Given the description of an element on the screen output the (x, y) to click on. 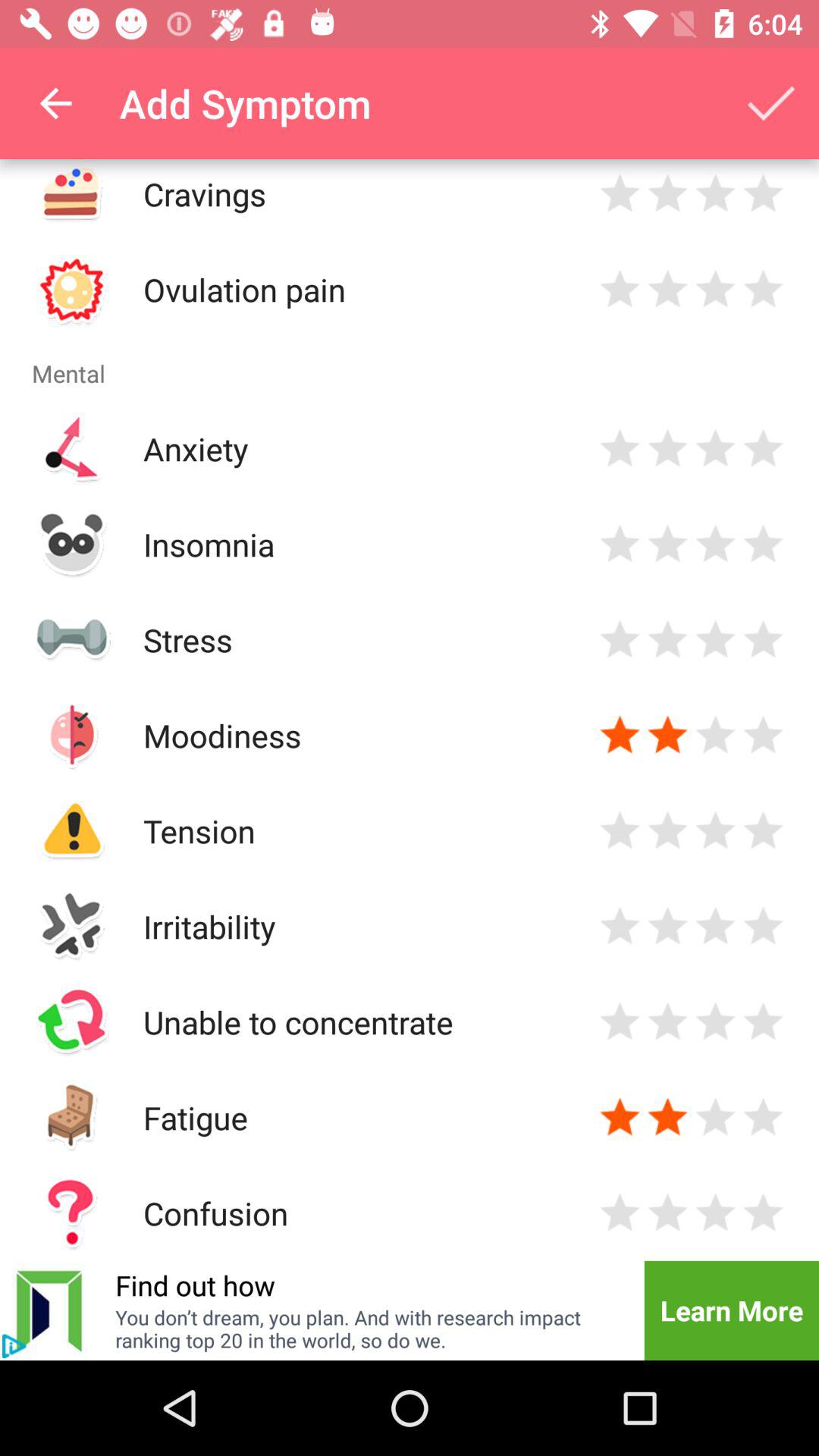
star rating (763, 735)
